Given the description of an element on the screen output the (x, y) to click on. 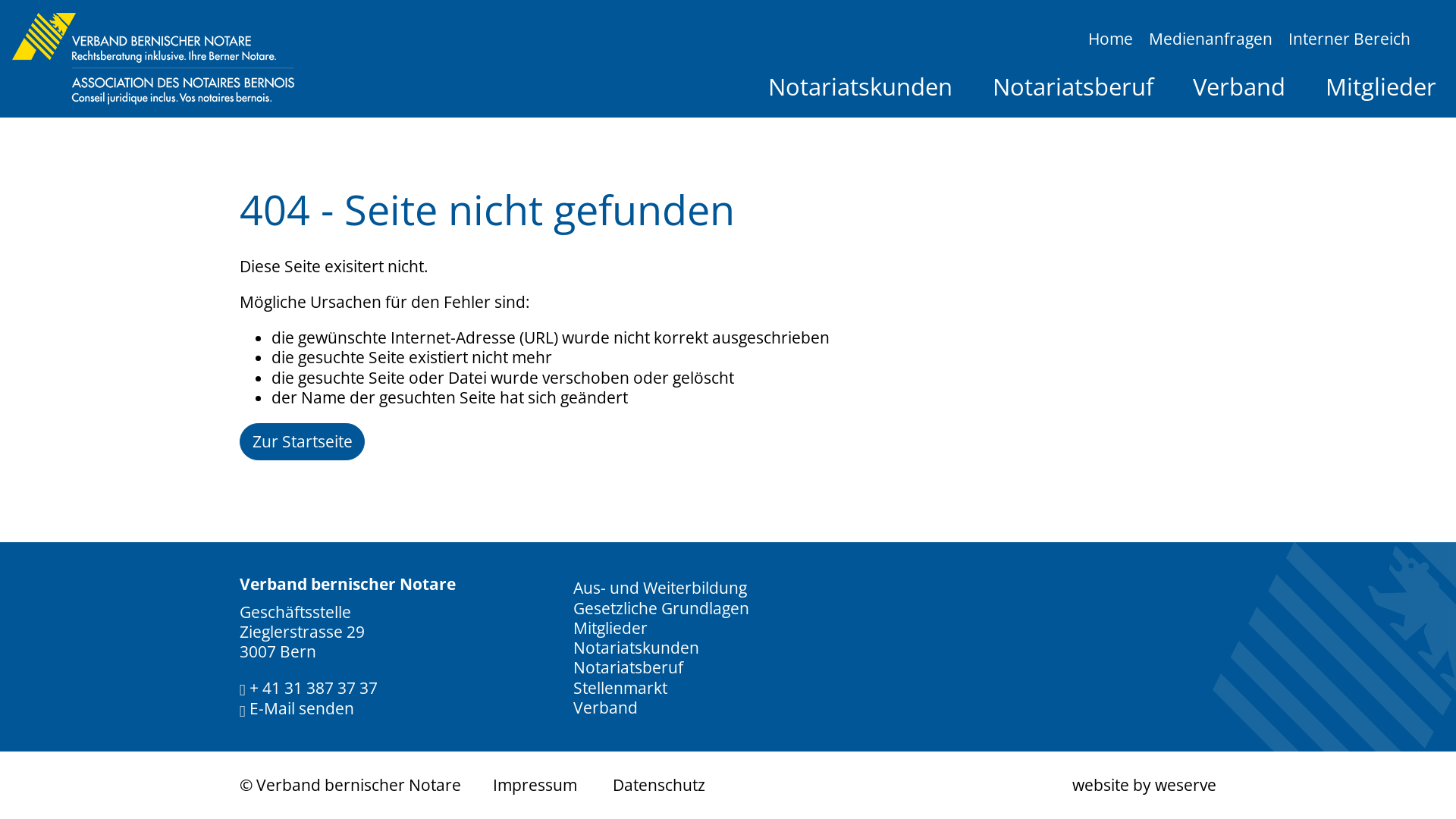
Datenschutz Element type: text (658, 785)
Mitglieder Element type: text (1380, 86)
Notariatskunden Element type: text (860, 86)
Aus- und Weiterbildung Element type: text (728, 587)
E-Mail senden Element type: text (296, 707)
Gesetzliche Grundlagen Element type: text (728, 607)
+ 41 31 387 37 37 Element type: text (308, 686)
website by weserve Element type: text (1144, 784)
Medienanfragen Element type: text (1210, 38)
Interner Bereich Element type: text (1349, 38)
Mitglieder Element type: text (728, 627)
Notariatsberuf Element type: text (1072, 86)
Home Element type: text (1110, 38)
Notariatskunden Element type: text (728, 647)
Notariatsberuf Element type: text (728, 667)
Verband Element type: text (1239, 86)
Verband Element type: text (728, 707)
Impressum Element type: text (534, 785)
Stellenmarkt Element type: text (728, 687)
Zur Startseite Element type: text (302, 441)
